Given the description of an element on the screen output the (x, y) to click on. 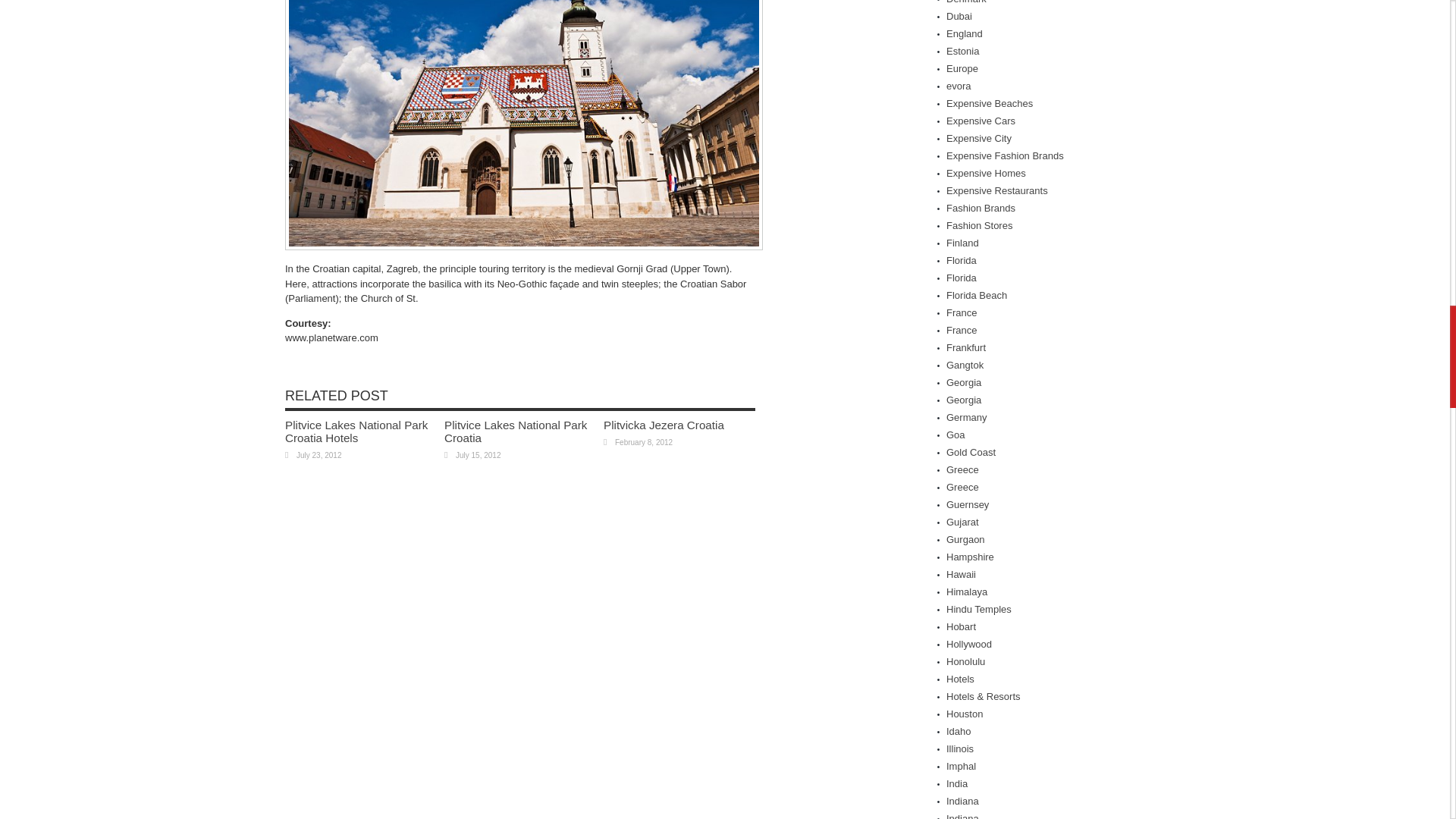
Plitvice Lakes National Park Croatia (515, 431)
Permalink to Plitvice Lakes National Park Croatia Hotels (356, 431)
Permalink to Plitvicka Jezera Croatia (663, 424)
Plitvicka Jezera Croatia (663, 424)
Plitvice Lakes National Park Croatia Hotels (356, 431)
Permalink to Plitvice Lakes National Park Croatia (515, 431)
